Given the description of an element on the screen output the (x, y) to click on. 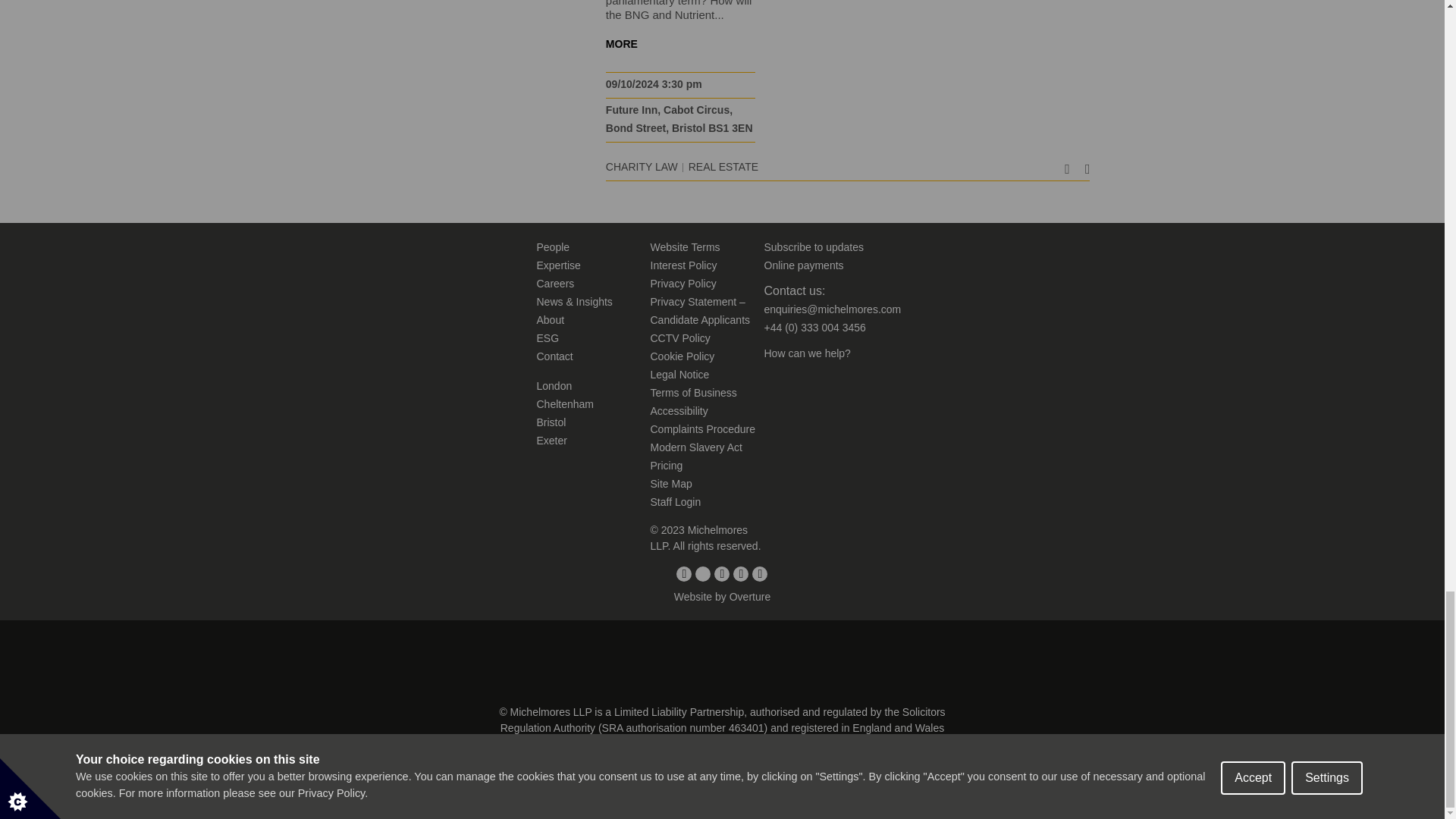
Contact (555, 356)
People (553, 246)
Future Inn, Cabot Circus, Bond Street, Bristol BS1 3EN (678, 119)
About (550, 319)
Cheltenham (565, 404)
MORE (621, 43)
CHARITY LAW (641, 166)
London (554, 386)
REAL ESTATE (723, 166)
Careers (556, 283)
